Given the description of an element on the screen output the (x, y) to click on. 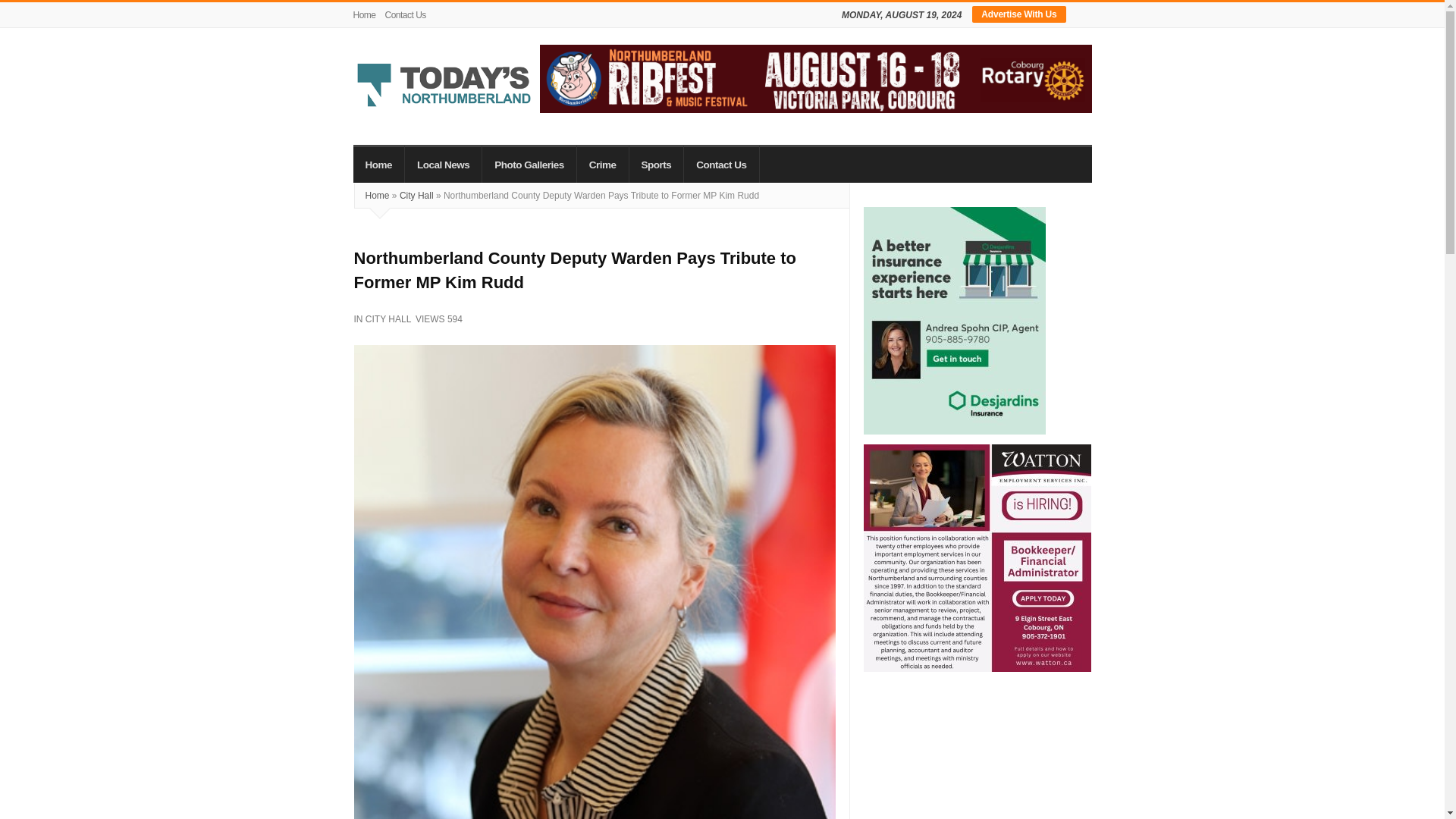
Contact Us (405, 14)
Home (379, 163)
Home (366, 14)
Advertise With Us (1018, 13)
Photo Galleries (528, 163)
Local News (442, 163)
